Given the description of an element on the screen output the (x, y) to click on. 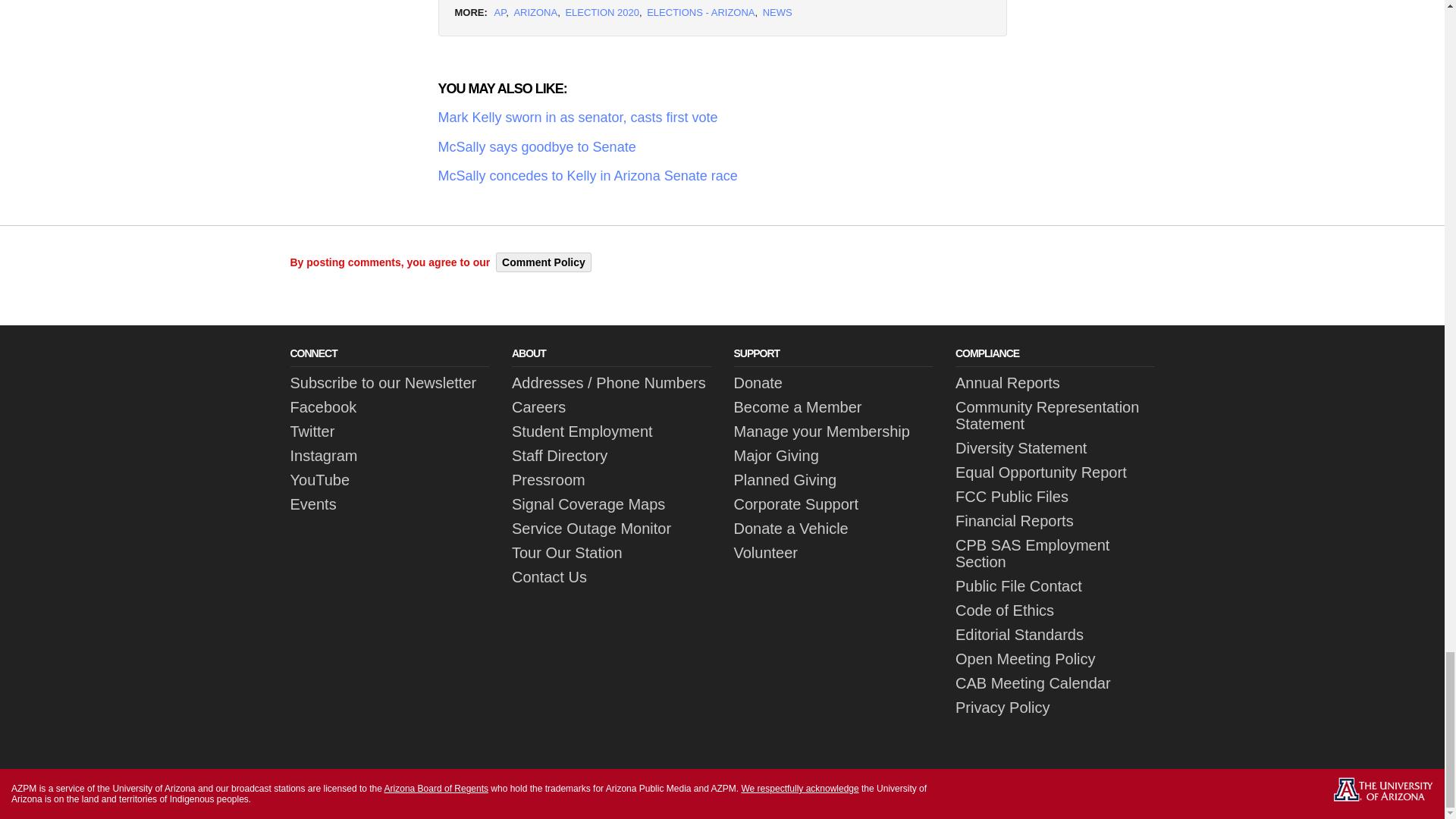
McSally concedes to Kelly in Arizona Senate race (722, 176)
McSally says goodbye to Senate (722, 147)
Mark Kelly sworn in as senator, casts first vote (722, 117)
